Given the description of an element on the screen output the (x, y) to click on. 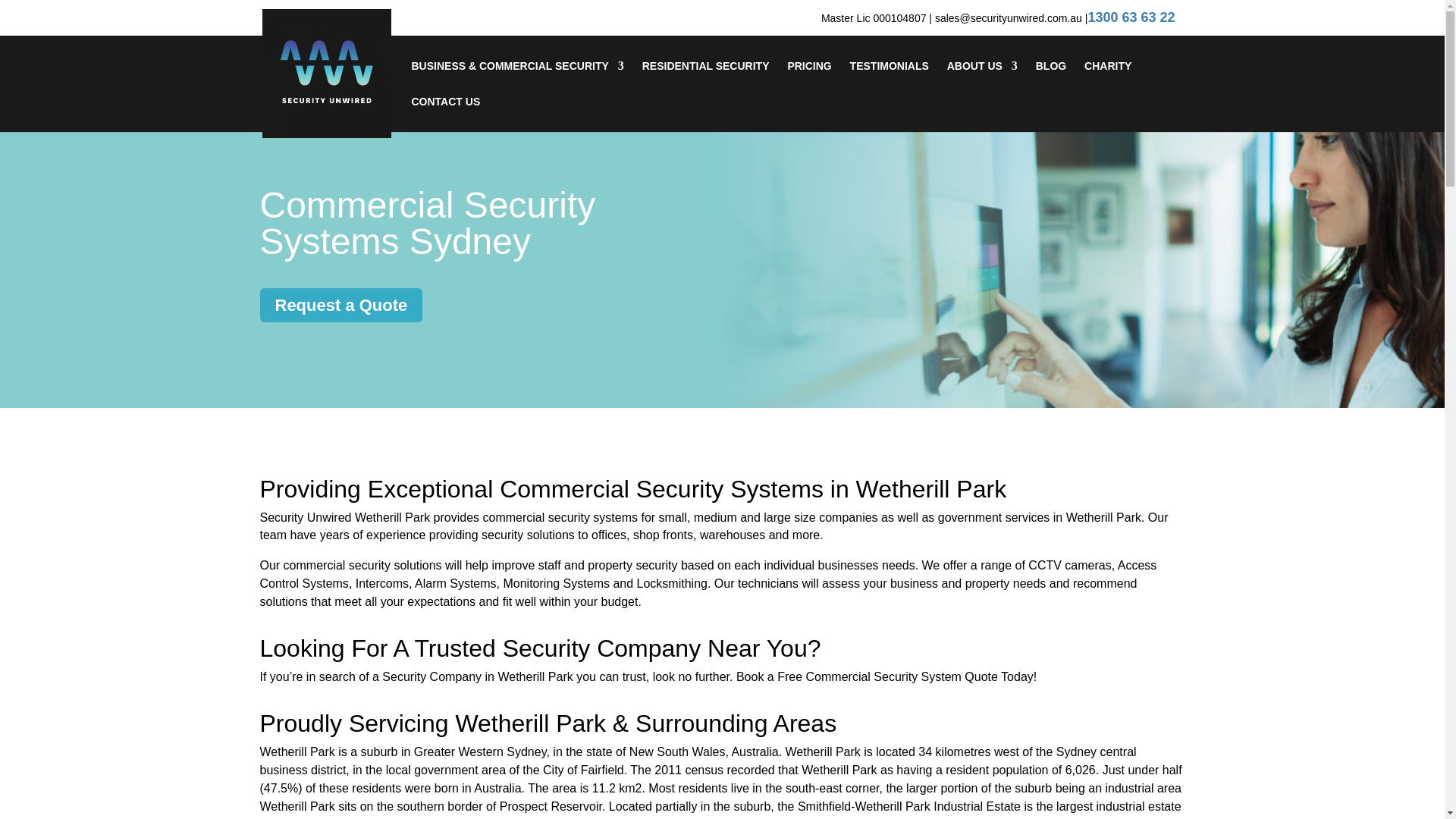
1300 63 63 22 (1130, 17)
CONTACT US (445, 113)
CHARITY (1107, 78)
RESIDENTIAL SECURITY (706, 78)
PRICING (809, 78)
TESTIMONIALS (889, 78)
ABOUT US (982, 78)
